Given the description of an element on the screen output the (x, y) to click on. 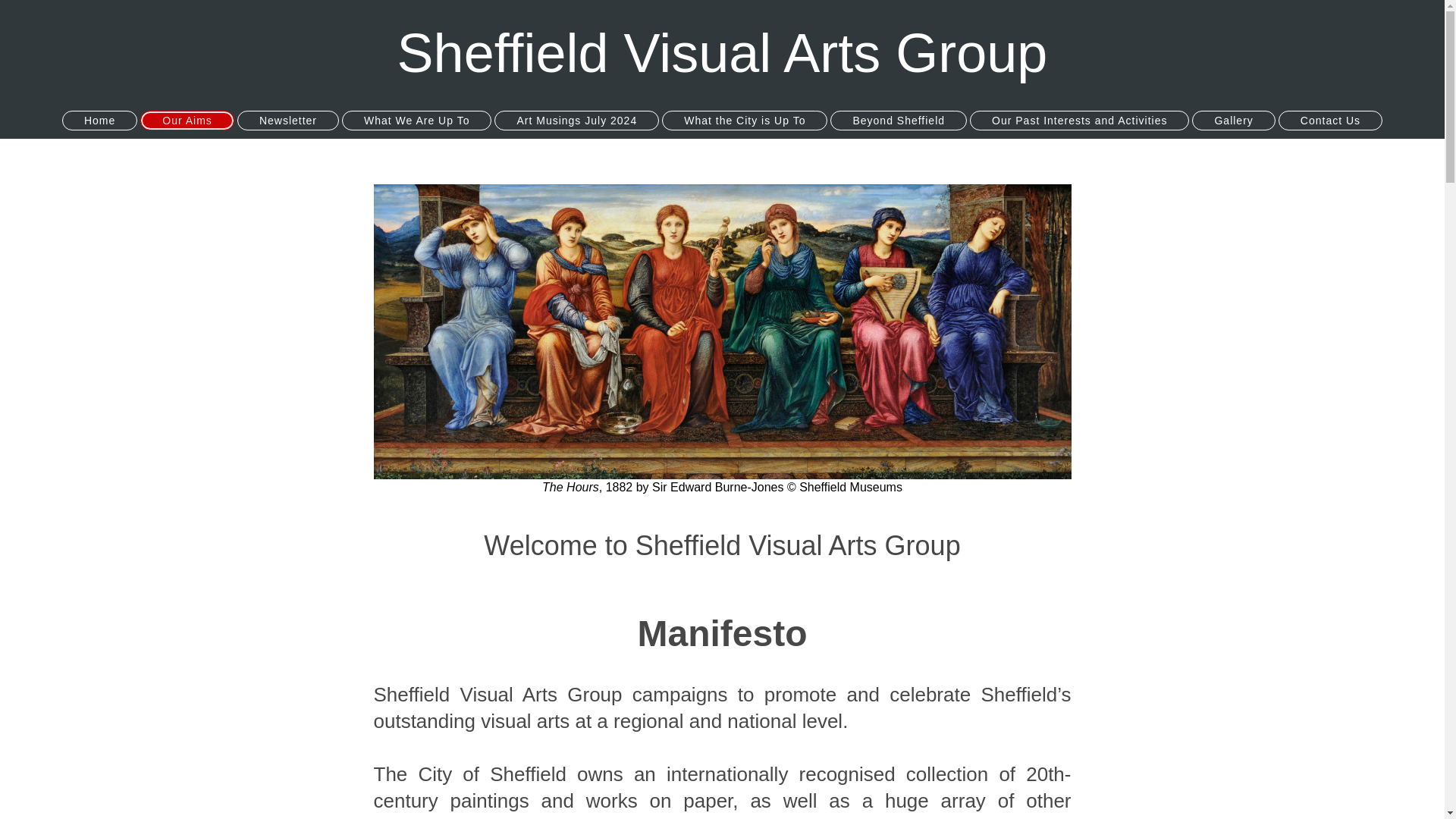
Sheffield Visual Arts Group (722, 52)
Art Musings July 2024 (577, 120)
What We Are Up To (417, 120)
Our Aims (186, 120)
Our Past Interests and Activities (1079, 120)
Contact Us (1329, 120)
Gallery (1233, 120)
Newsletter (288, 120)
What the City is Up To (744, 120)
Beyond Sheffield (897, 120)
